Given the description of an element on the screen output the (x, y) to click on. 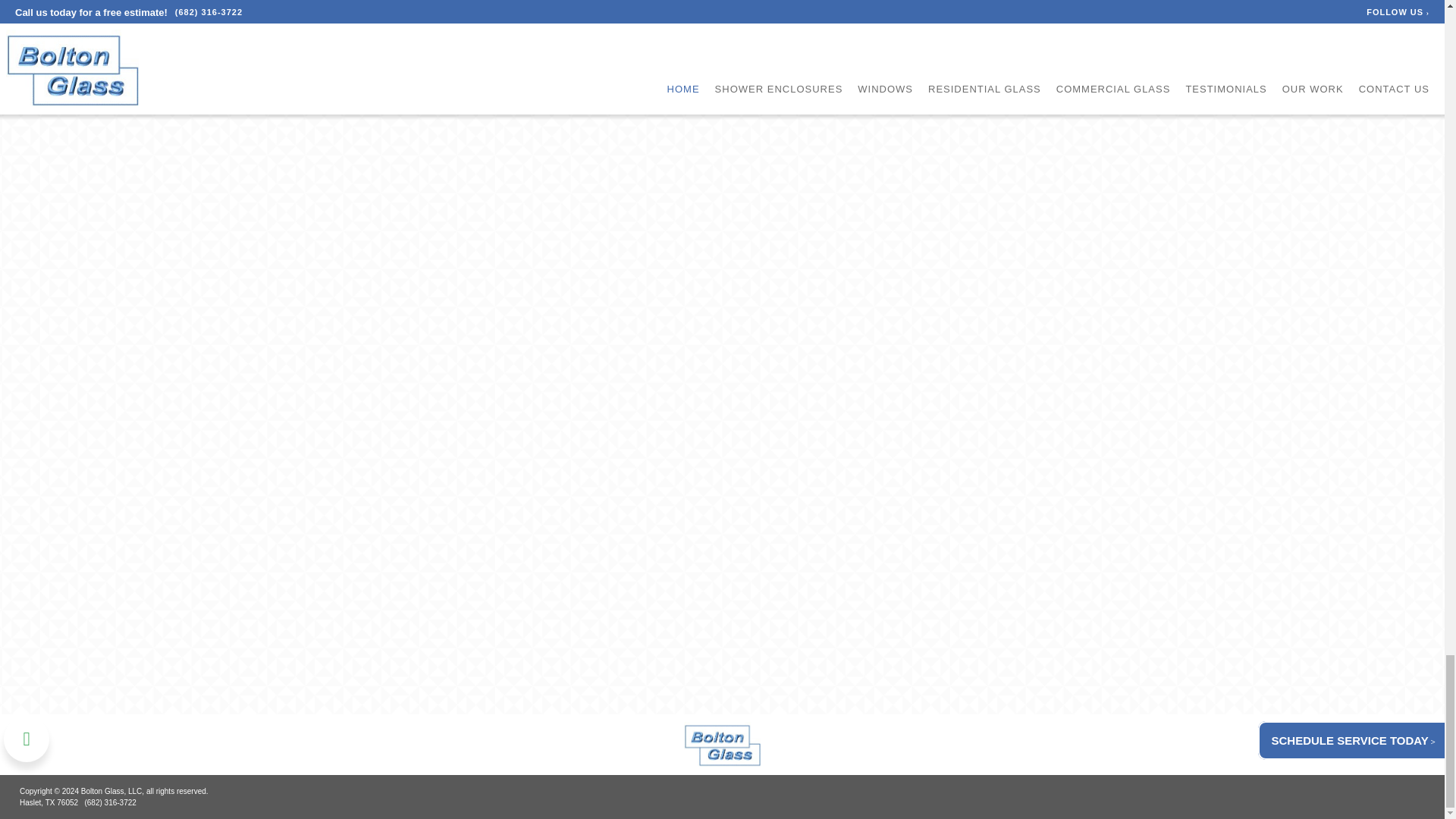
Bolton Glass, LLC (722, 744)
